Given the description of an element on the screen output the (x, y) to click on. 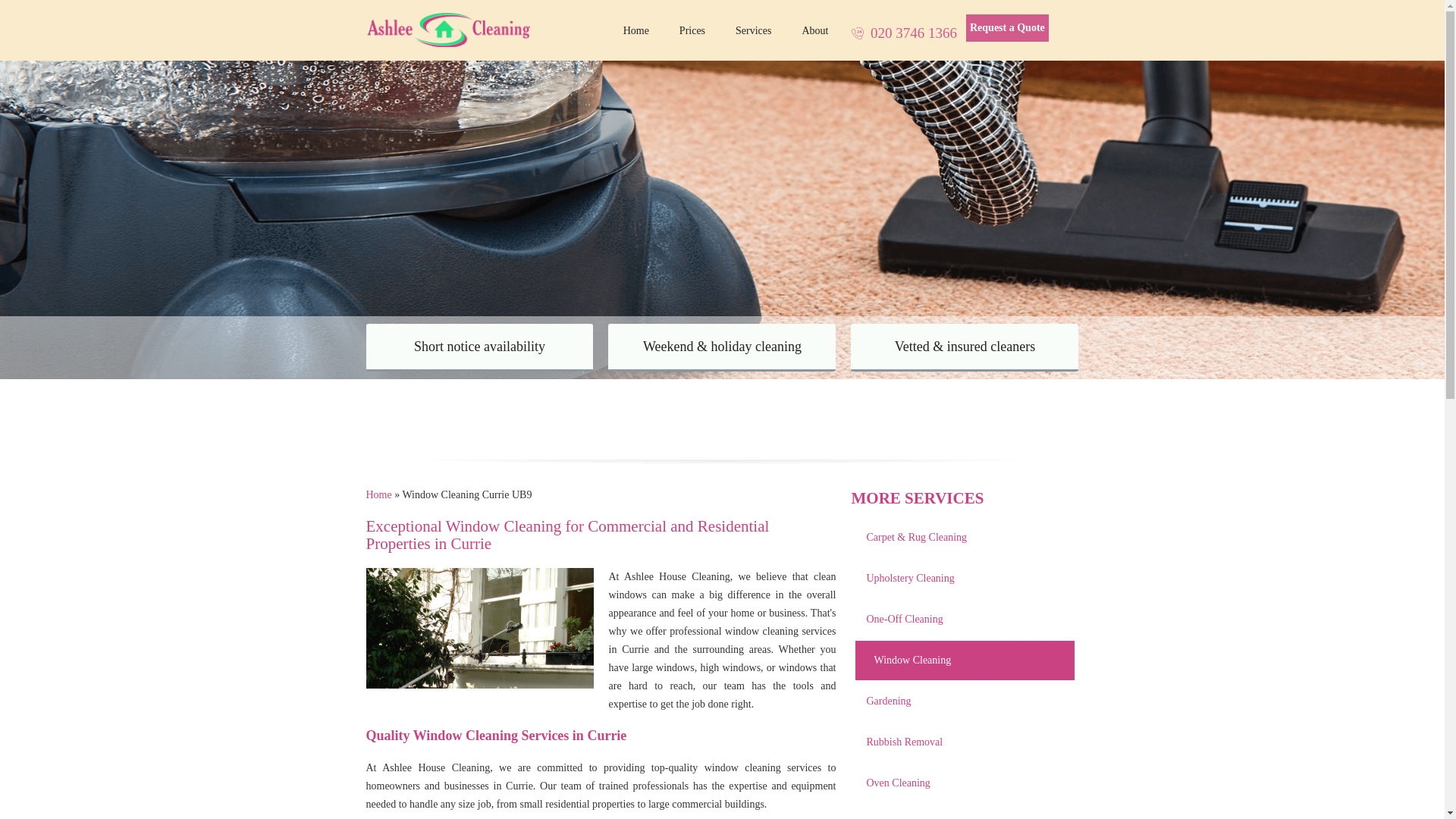
Cleaning London Prices (692, 31)
Oven Cleaning (965, 783)
Services (753, 31)
Cleaning Services in London (753, 31)
Request a Quote (1007, 27)
Home (636, 31)
Upholstery Cleaning (965, 578)
About Ashlee House Cleaning in London (815, 31)
One-Off Cleaning (965, 619)
Professional Cleaning in London (636, 31)
About (815, 31)
Window Cleaning (969, 660)
Rubbish Removal (965, 742)
Request a Quote (1007, 27)
Call Ashlee House Cleaning on 020 3746 1366 (903, 32)
